Given the description of an element on the screen output the (x, y) to click on. 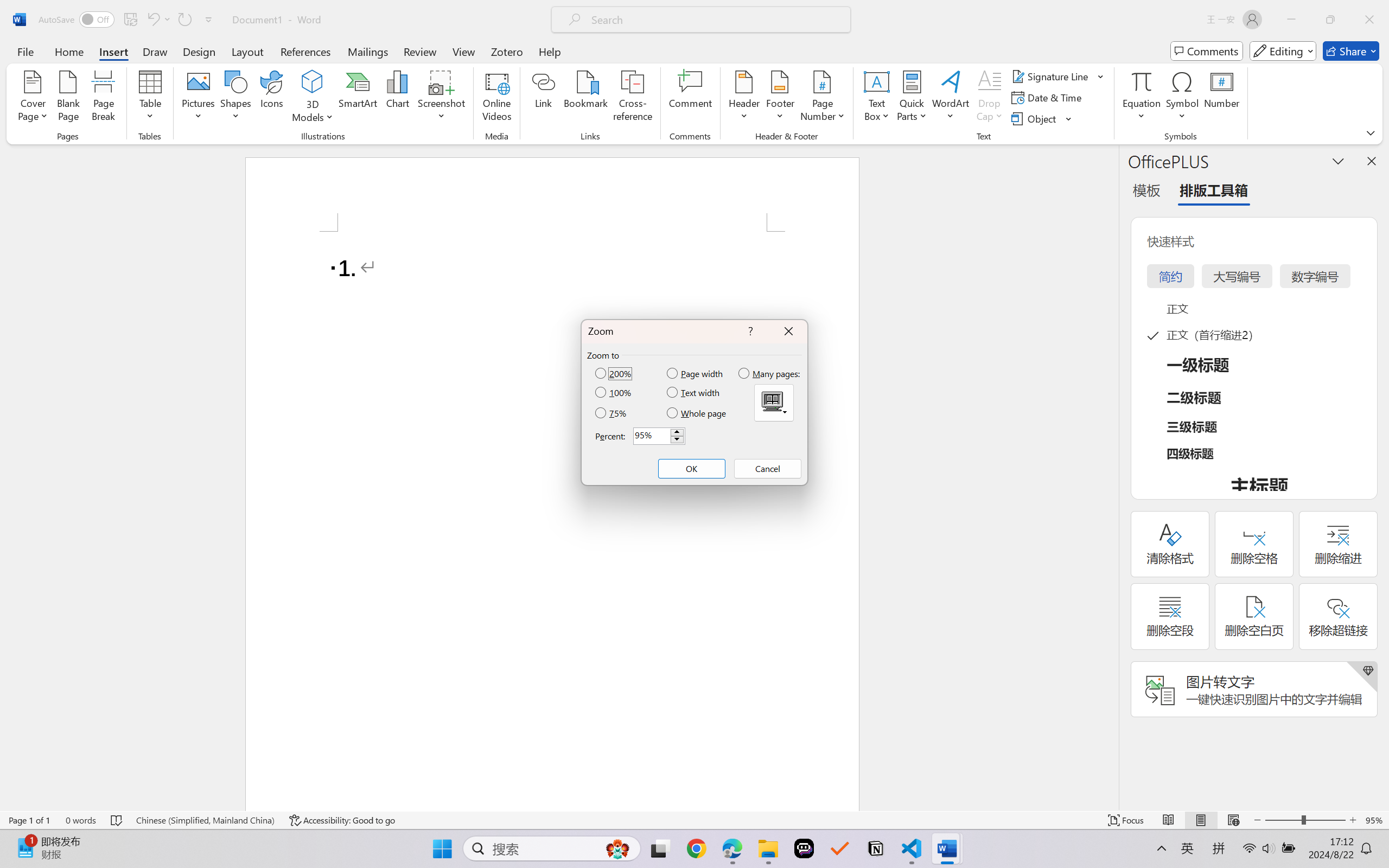
Cancel (767, 468)
Page Break (103, 97)
Date & Time... (1048, 97)
Blank Page (67, 97)
Shapes (235, 97)
SmartArt... (358, 97)
